Given the description of an element on the screen output the (x, y) to click on. 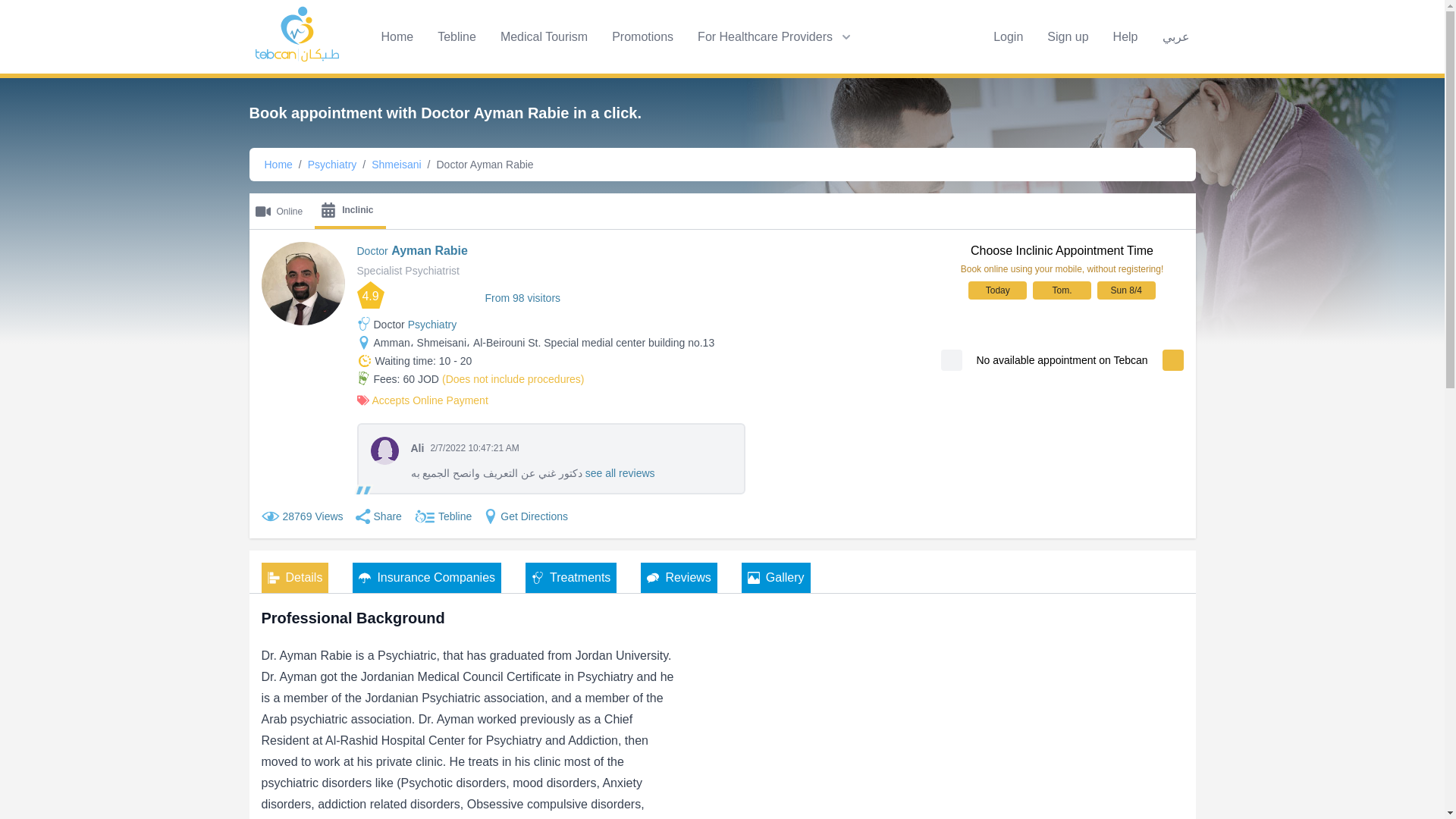
Online (281, 211)
For Healthcare Providers (775, 36)
Tebline (456, 36)
From 98 visitors (522, 296)
Share (386, 516)
Get Directions (519, 516)
Home (277, 164)
Login (1007, 36)
Home (396, 36)
Psychiatry (432, 324)
Medical Tourism (721, 211)
Shmeisani (543, 36)
Help (395, 164)
Psychiatry (1125, 36)
